Given the description of an element on the screen output the (x, y) to click on. 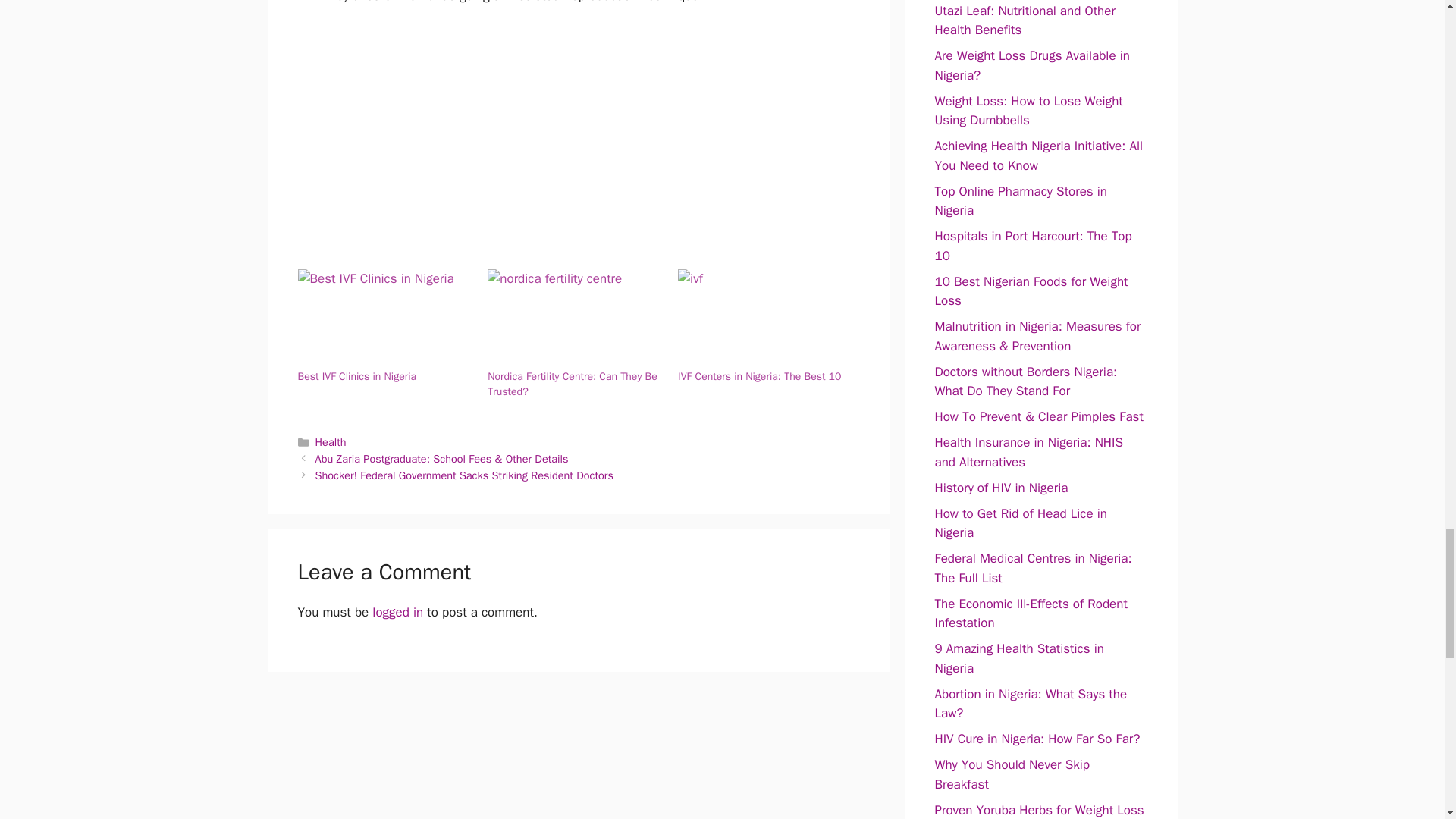
Best IVF Clinics in Nigeria (356, 376)
Nordica Fertility Centre: Can They Be Trusted? (571, 384)
IVF Centers in Nigeria: The Best 10 (759, 376)
logged in (397, 611)
Shocker! Federal Government Sacks Striking Resident Doctors (463, 475)
Best IVF Clinics in Nigeria (384, 319)
IVF Centers in Nigeria: The Best 10 (765, 319)
Health (330, 441)
IVF Centers in Nigeria: The Best 10 (759, 376)
Nordica Fertility Centre: Can They Be Trusted? (571, 384)
Best IVF Clinics in Nigeria (356, 376)
Nordica Fertility Centre: Can They Be Trusted? (574, 319)
